Given the description of an element on the screen output the (x, y) to click on. 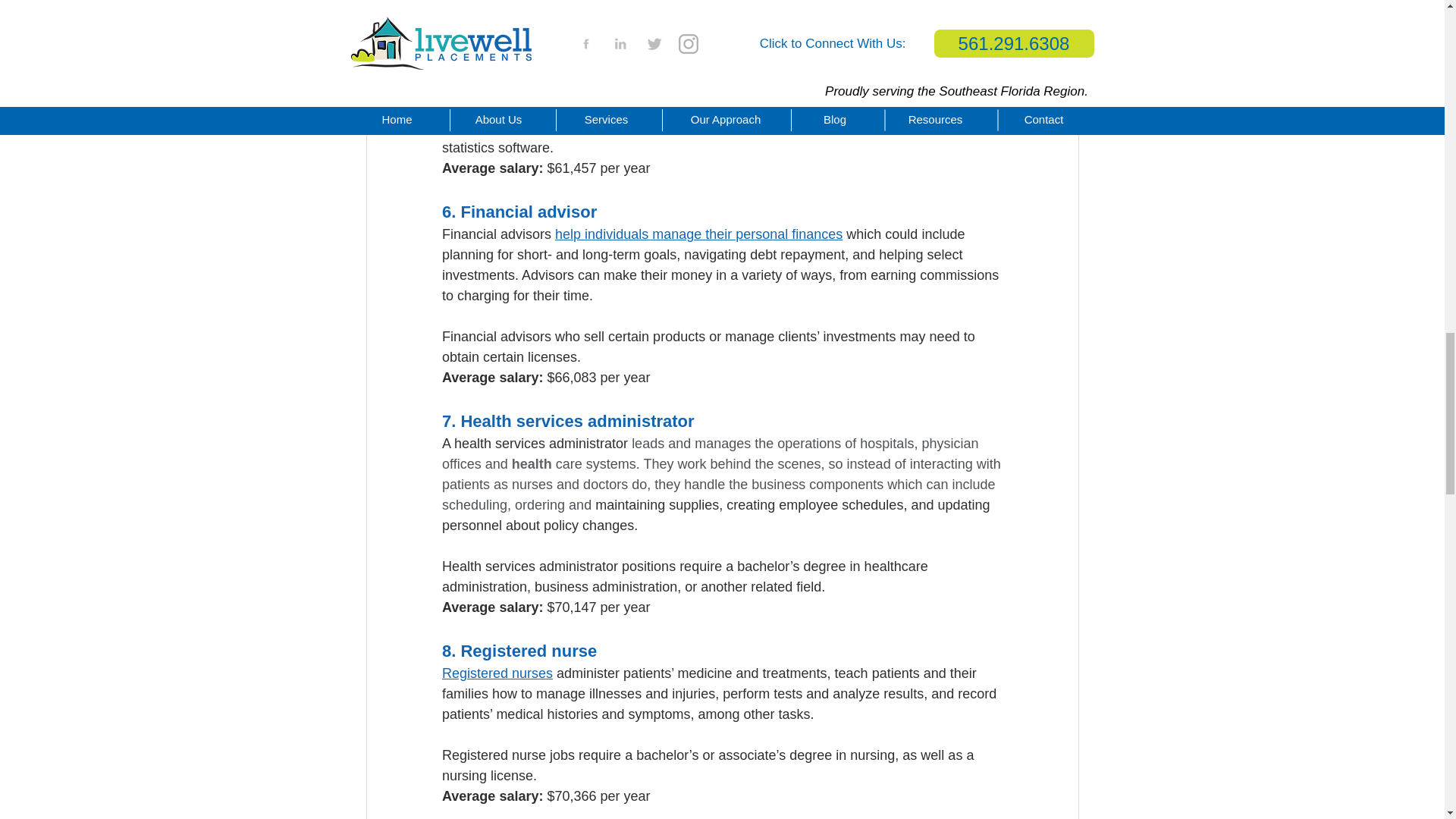
Registered nurses (496, 672)
help individuals manage their personal finances (698, 233)
